Given the description of an element on the screen output the (x, y) to click on. 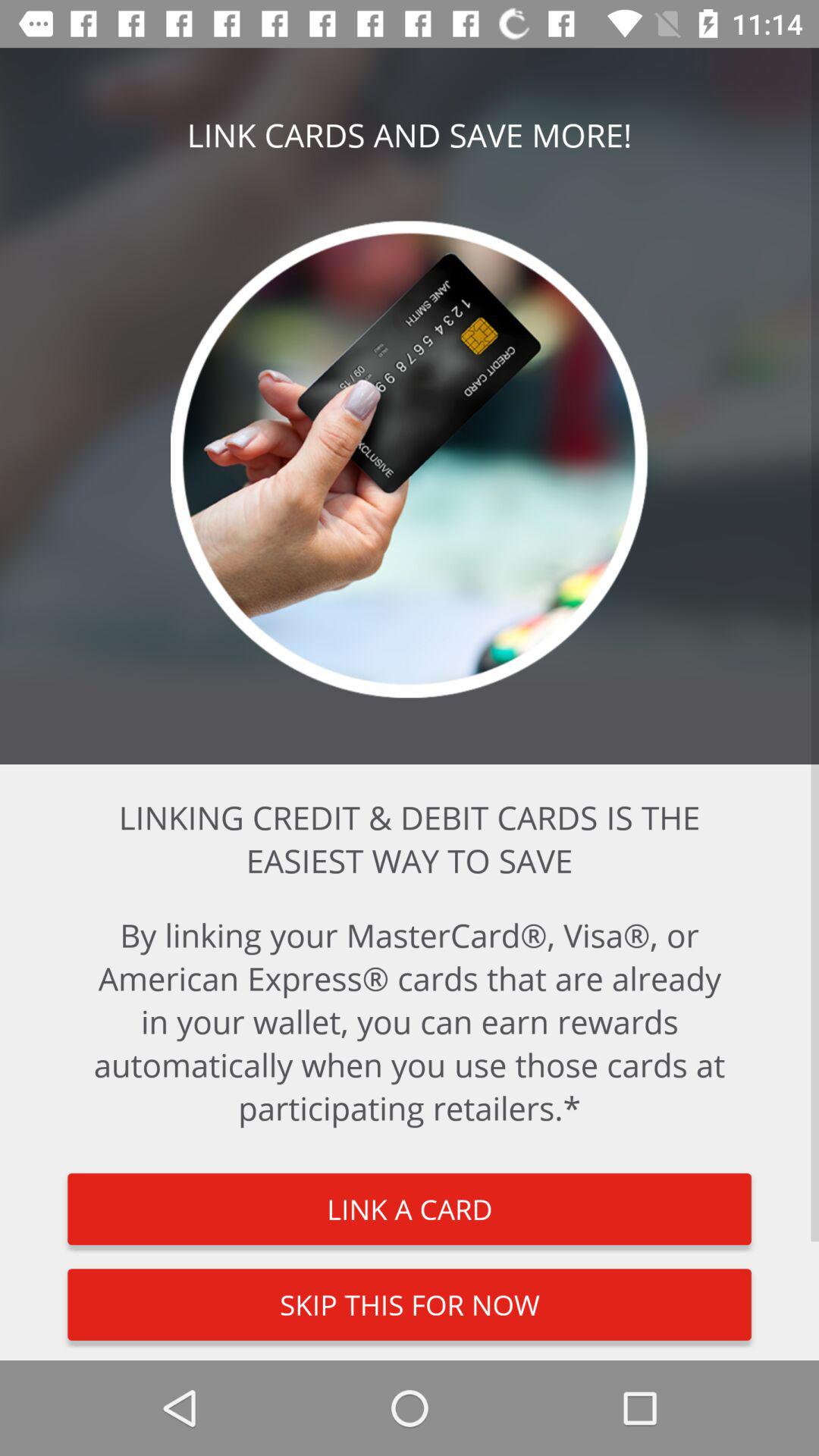
turn on link a card item (409, 1208)
